Given the description of an element on the screen output the (x, y) to click on. 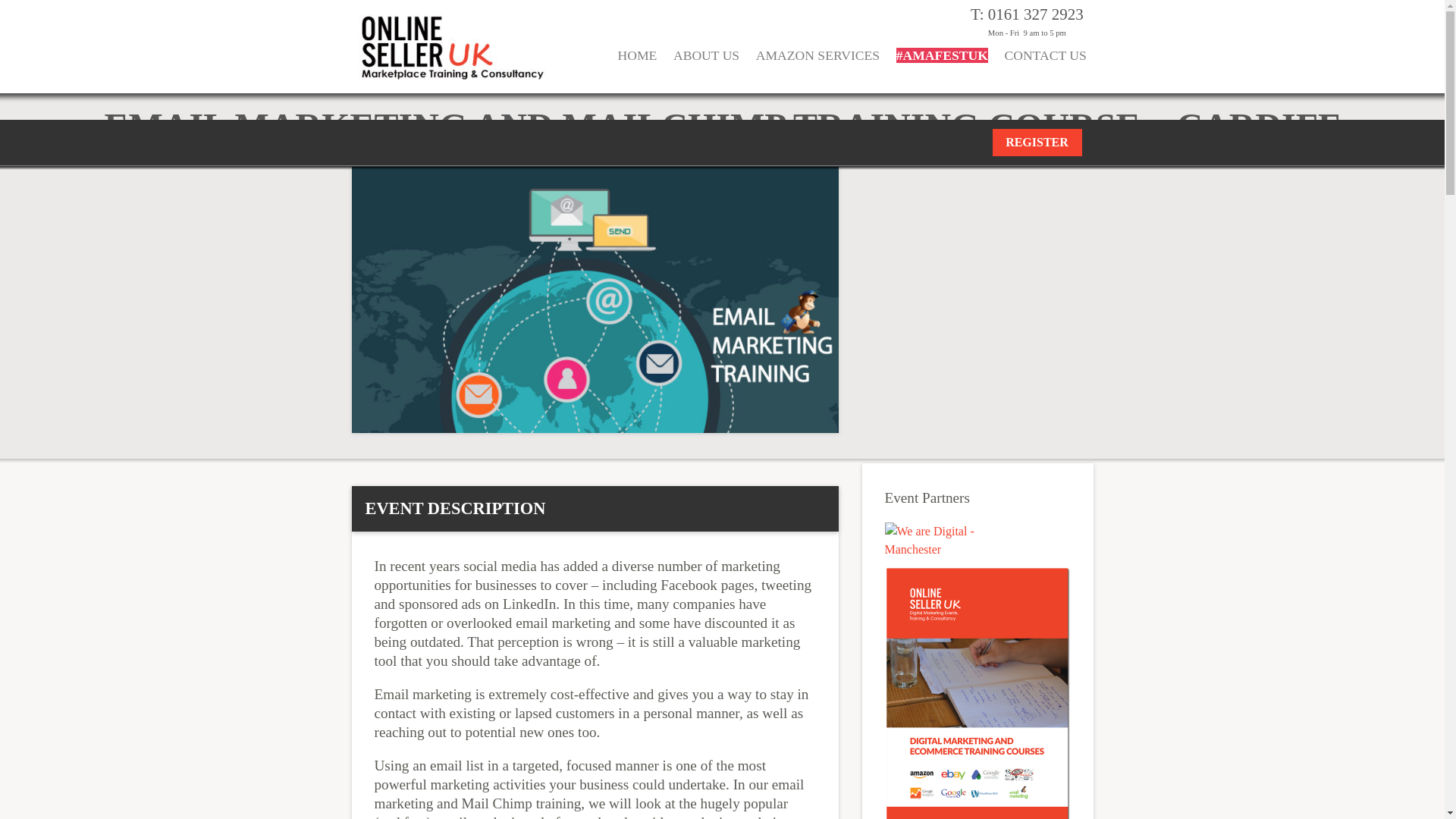
HOME (637, 64)
REGISTER (1036, 142)
CONTACT US (1045, 64)
AMAZON SERVICES (817, 64)
ABOUT US (705, 64)
